Given the description of an element on the screen output the (x, y) to click on. 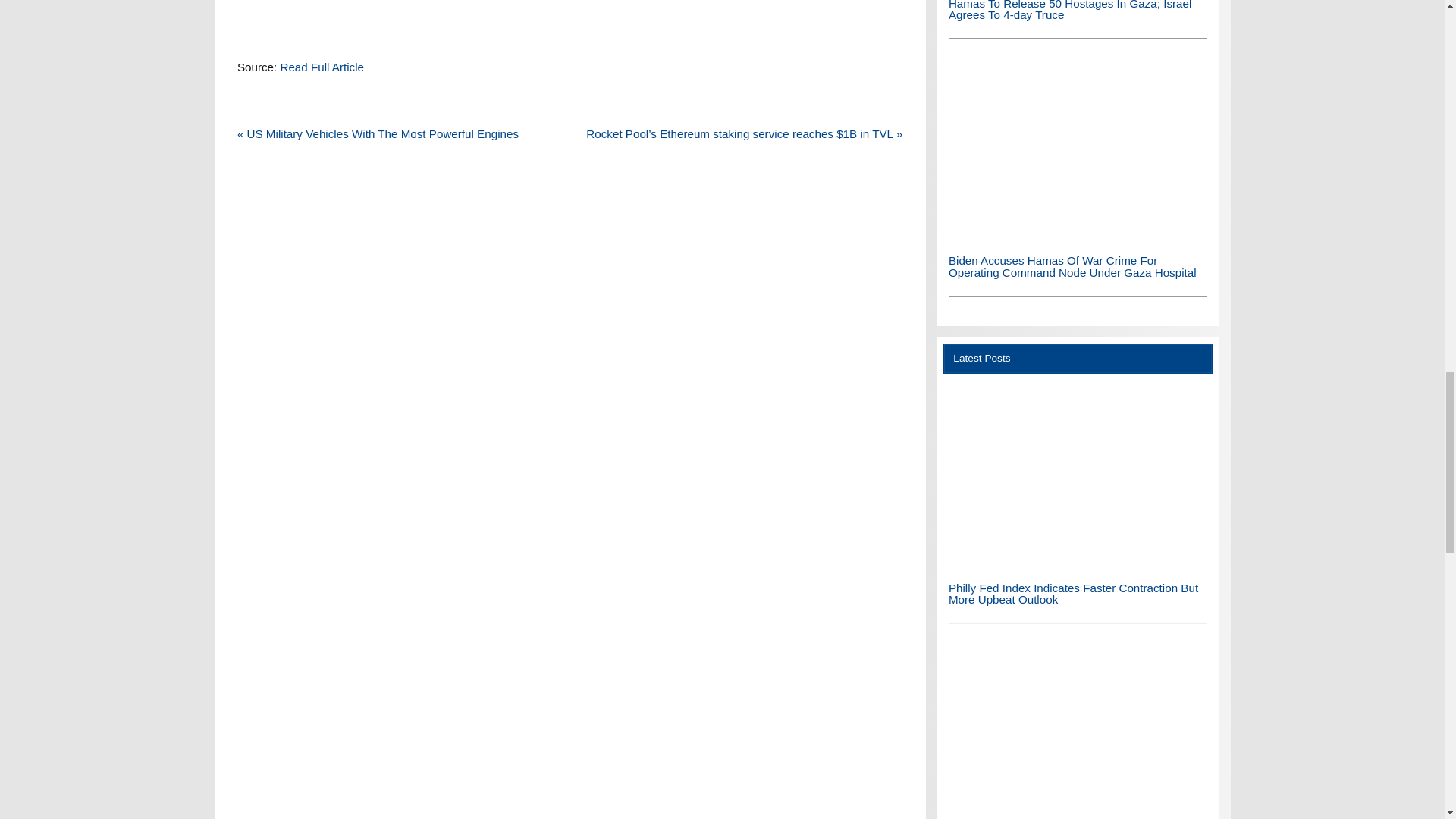
Solana Sparkles In Crypto Rally (1078, 730)
Read Full Article (321, 66)
